Given the description of an element on the screen output the (x, y) to click on. 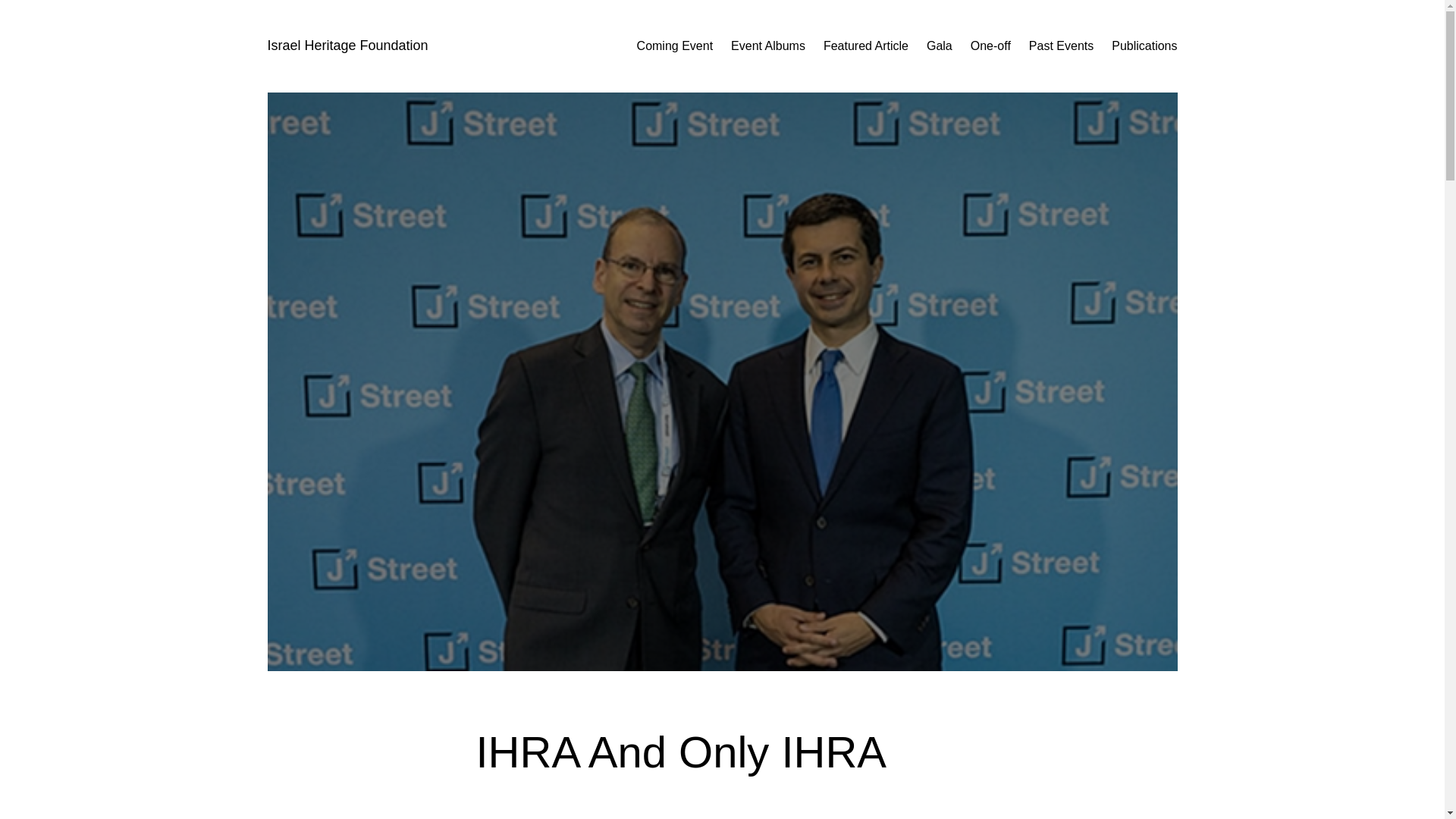
Featured Article (866, 46)
Publications (1144, 46)
Event Albums (767, 46)
Gala (939, 46)
Past Events (1061, 46)
One-off (990, 46)
Coming Event (675, 46)
Israel Heritage Foundation (347, 45)
